Given the description of an element on the screen output the (x, y) to click on. 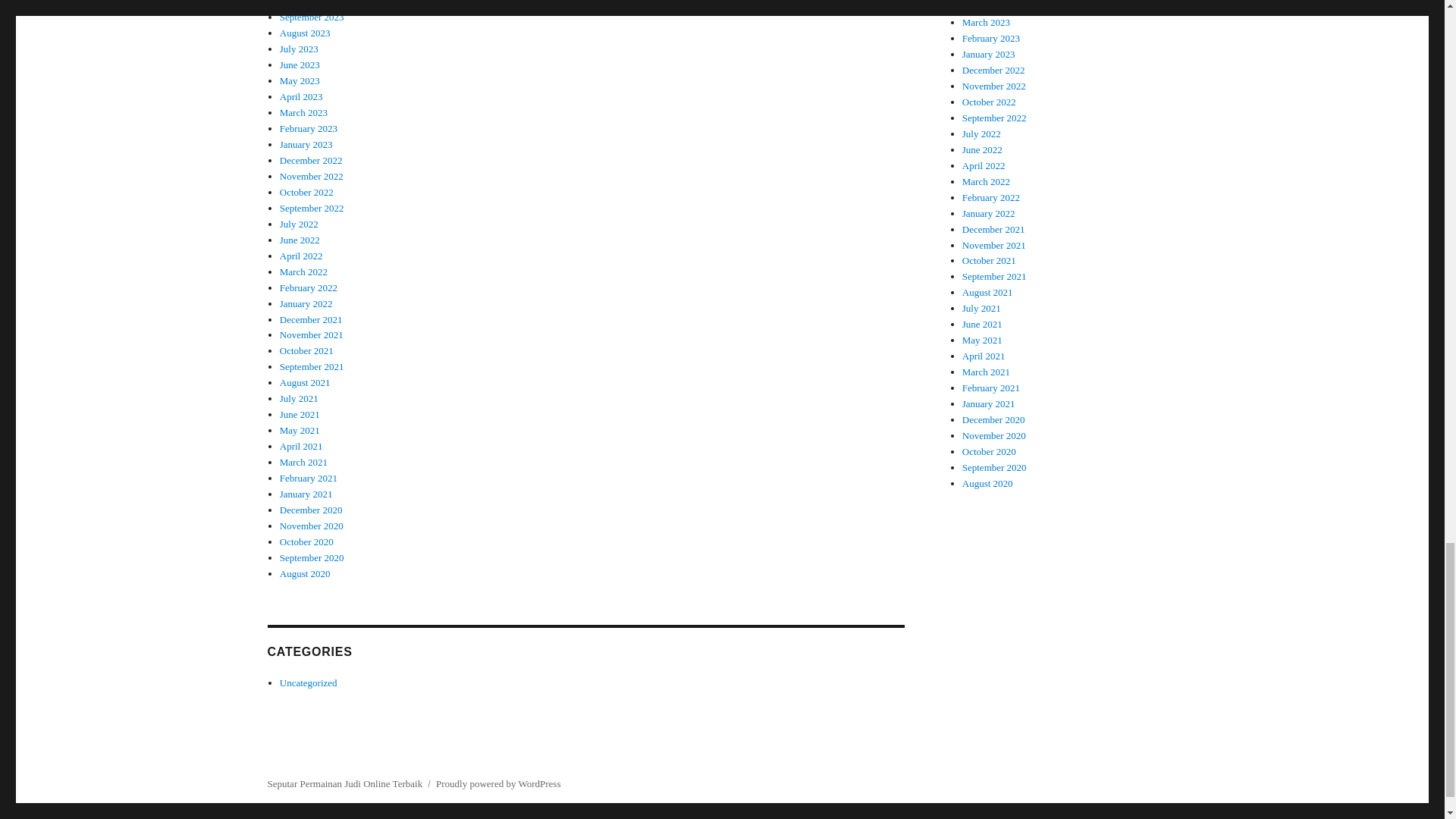
September 2022 (311, 207)
November 2022 (311, 175)
March 2022 (303, 271)
December 2021 (310, 319)
January 2023 (306, 143)
May 2023 (299, 80)
February 2022 (308, 287)
July 2022 (298, 224)
December 2022 (310, 160)
October 2022 (306, 192)
June 2023 (299, 64)
January 2022 (306, 303)
October 2023 (306, 3)
September 2023 (311, 16)
February 2023 (308, 128)
